Given the description of an element on the screen output the (x, y) to click on. 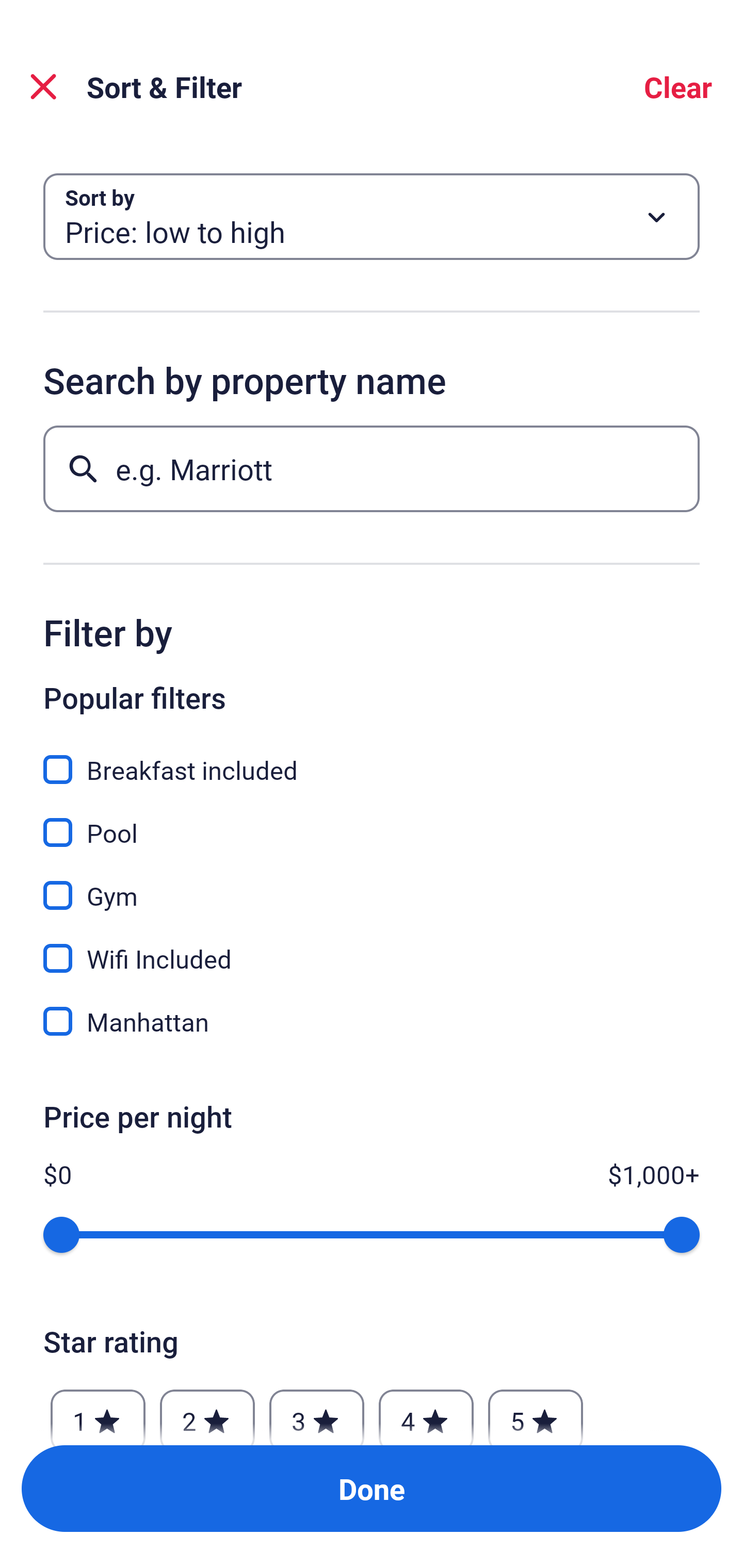
Close Sort and Filter (43, 86)
Clear (677, 86)
Sort by Button Price: low to high (371, 217)
e.g. Marriott Button (371, 468)
Breakfast included, Breakfast included (371, 757)
Pool, Pool (371, 821)
Gym, Gym (371, 883)
Wifi Included, Wifi Included (371, 946)
Manhattan, Manhattan (371, 1021)
1 (97, 1411)
2 (206, 1411)
3 (316, 1411)
4 (426, 1411)
5 (535, 1411)
Apply and close Sort and Filter Done (371, 1488)
